Given the description of an element on the screen output the (x, y) to click on. 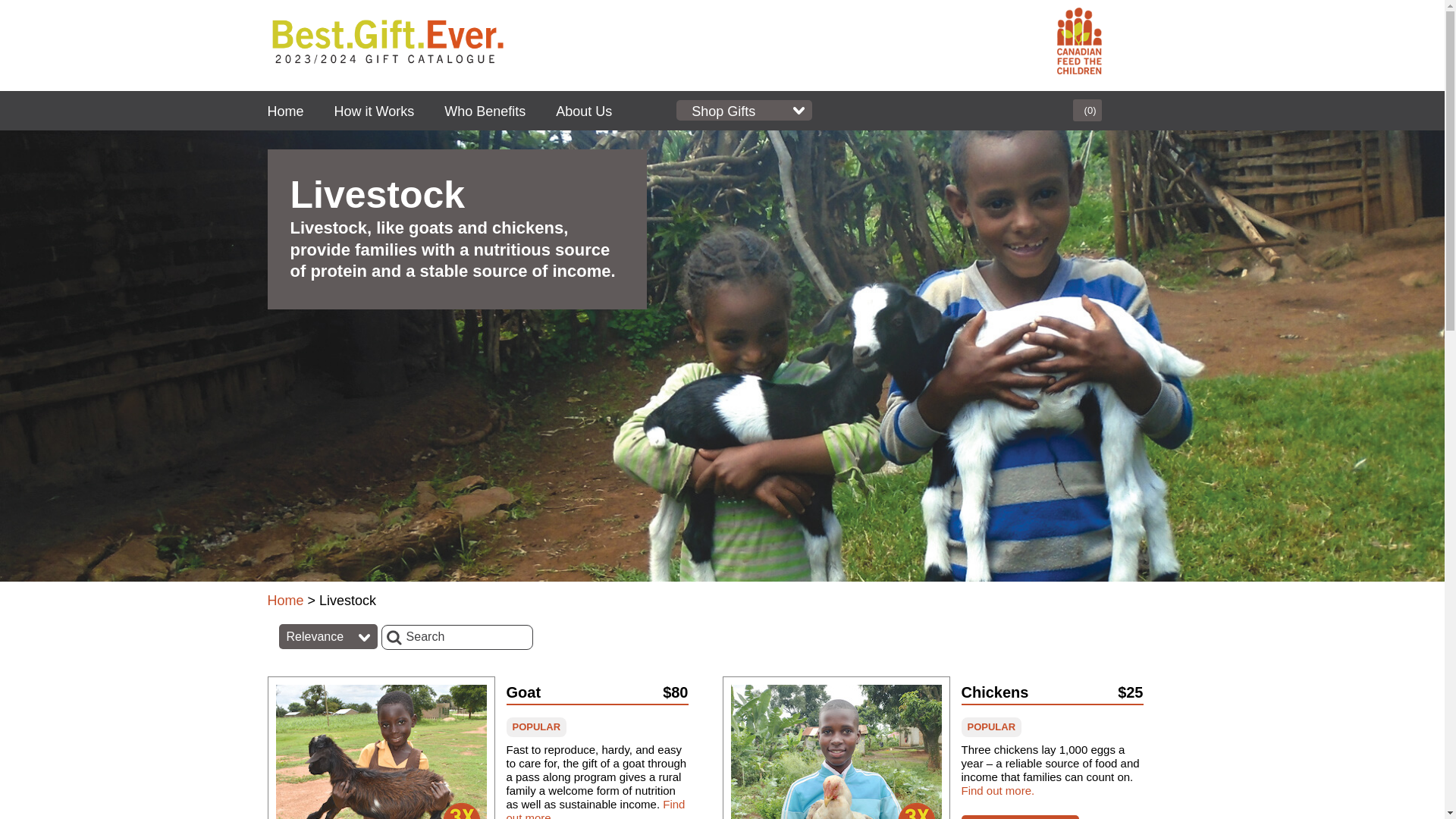
Find out more. Element type: text (998, 790)
About Us Element type: text (583, 111)
0 Element type: text (1087, 110)
Home Element type: text (284, 111)
> Element type: text (133, 18)
Relevance Element type: text (328, 636)
< Element type: text (17, 18)
Who Benefits Element type: text (484, 111)
Home Element type: text (284, 600)
Shop Gifts Element type: text (744, 110)
How it Works Element type: text (374, 111)
